Given the description of an element on the screen output the (x, y) to click on. 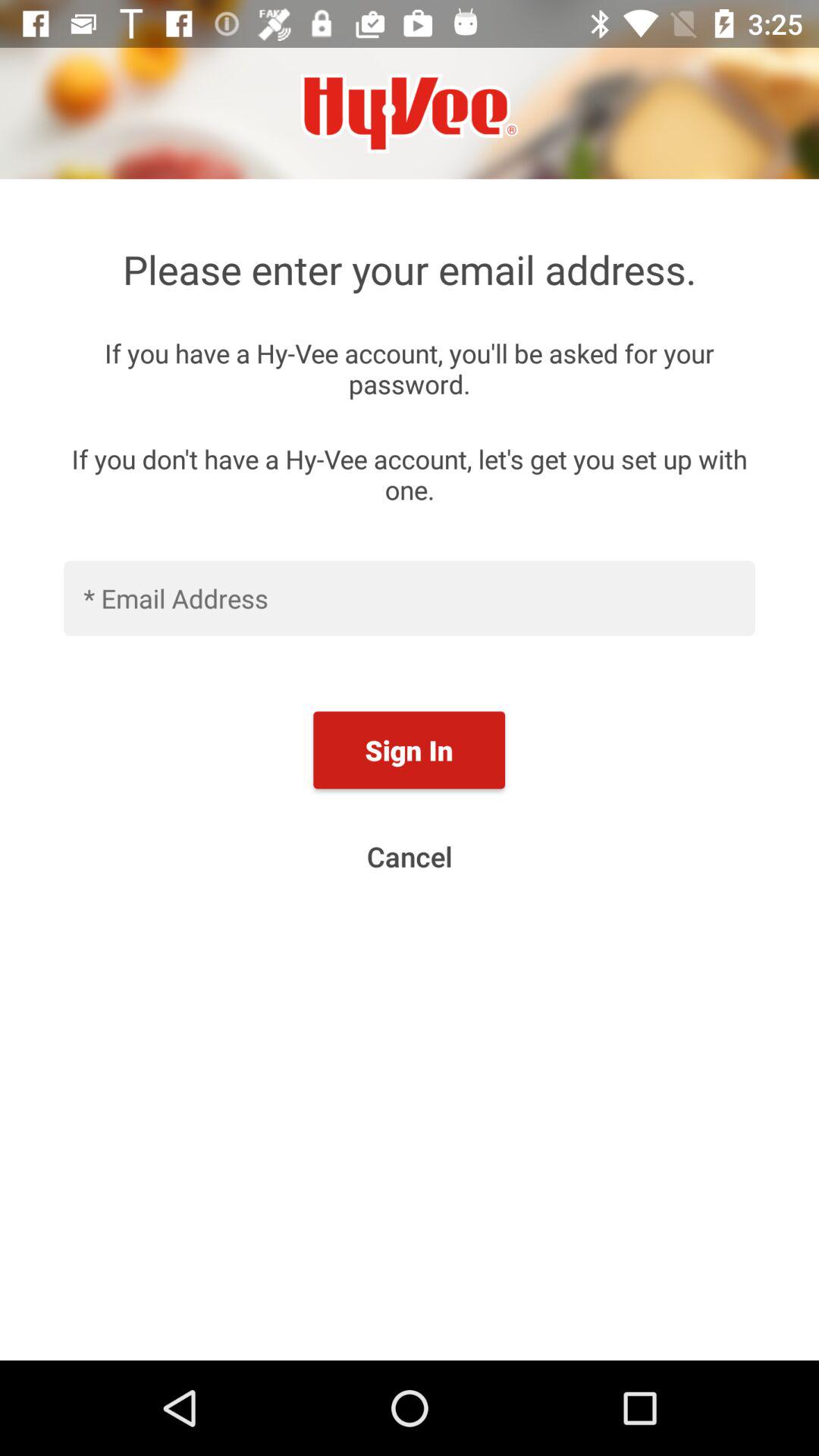
click item above cancel (409, 749)
